Given the description of an element on the screen output the (x, y) to click on. 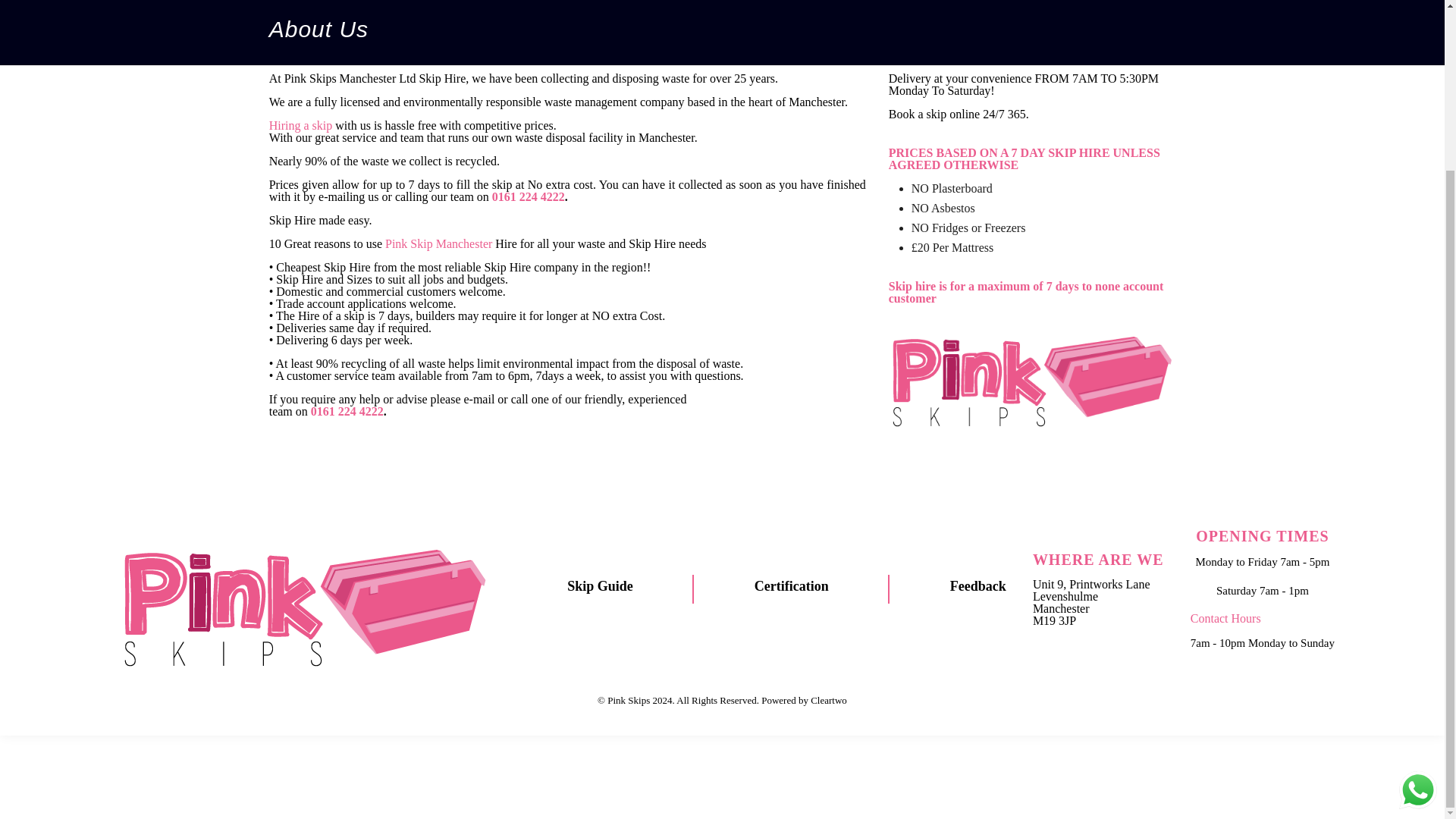
Feedback (978, 585)
Hiring a skip (301, 124)
Cleartwo (828, 699)
0161 224 4222 (347, 410)
Pink Skip Manchester (438, 243)
Certification (791, 585)
0161 224 4222 (528, 196)
Skip Guide (600, 585)
